Given the description of an element on the screen output the (x, y) to click on. 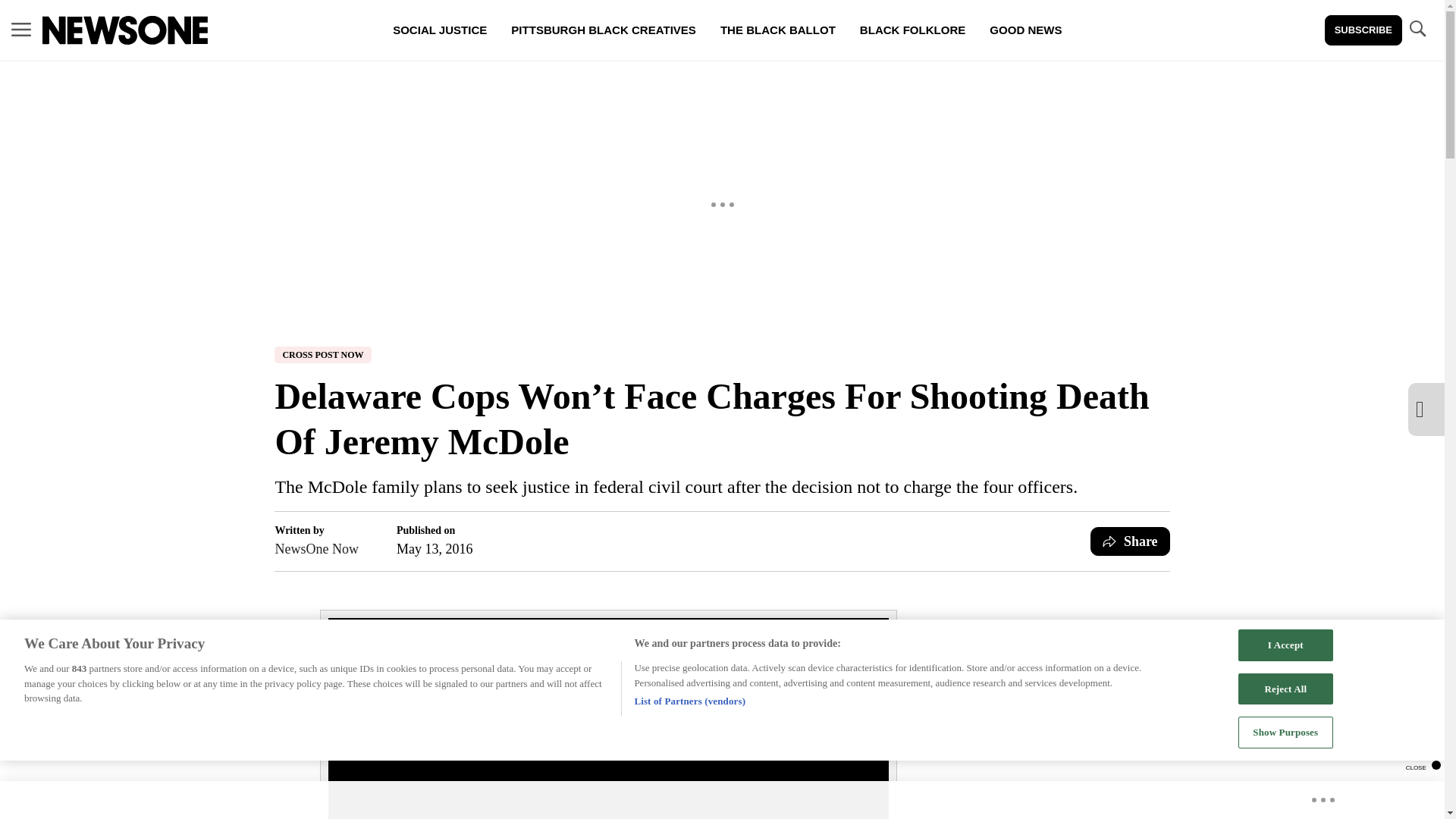
SOCIAL JUSTICE (439, 30)
SUBSCRIBE (1363, 30)
TOGGLE SEARCH (1417, 28)
THE BLACK BALLOT (777, 30)
PITTSBURGH BLACK CREATIVES (603, 30)
BLACK FOLKLORE (911, 30)
TOGGLE SEARCH (1417, 30)
NewsOne Now (316, 548)
GOOD NEWS (1025, 30)
CROSS POST NOW (323, 354)
MENU (20, 30)
Share (1130, 541)
MENU (20, 29)
